Given the description of an element on the screen output the (x, y) to click on. 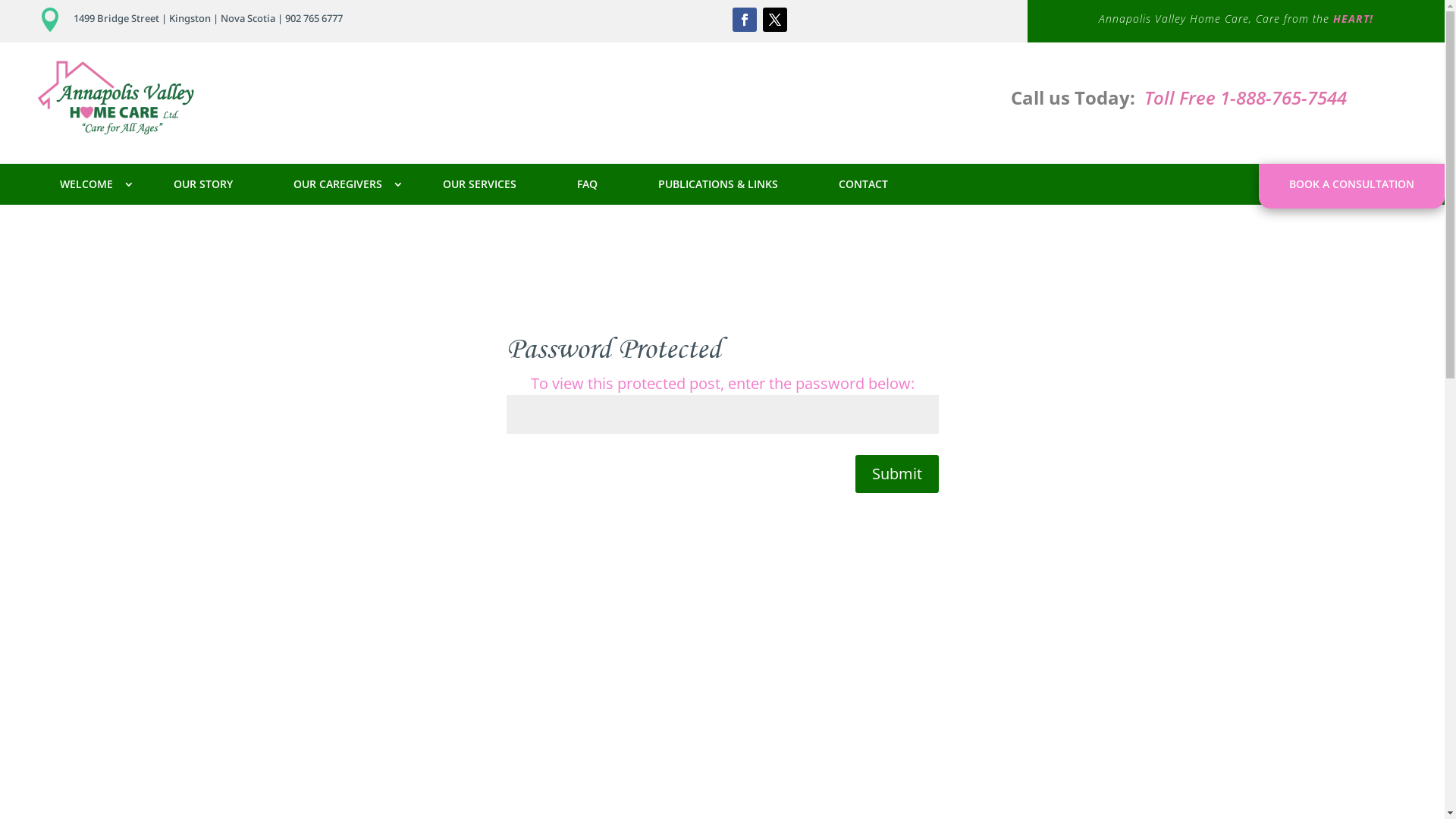
FAQ Element type: text (586, 183)
PUBLICATIONS & LINKS Element type: text (717, 183)
BOOK A CONSULTATION Element type: text (1351, 183)
OUR STORY Element type: text (203, 183)
OUR SERVICES Element type: text (479, 183)
WELCOME Element type: text (86, 183)
CONTACT Element type: text (863, 183)
Submit Element type: text (896, 473)
OUR CAREGIVERS Element type: text (337, 183)
Follow on Facebook Element type: hover (744, 19)
AV Home Care logo Element type: hover (115, 96)
Follow on Twitter Element type: hover (774, 19)
